Given the description of an element on the screen output the (x, y) to click on. 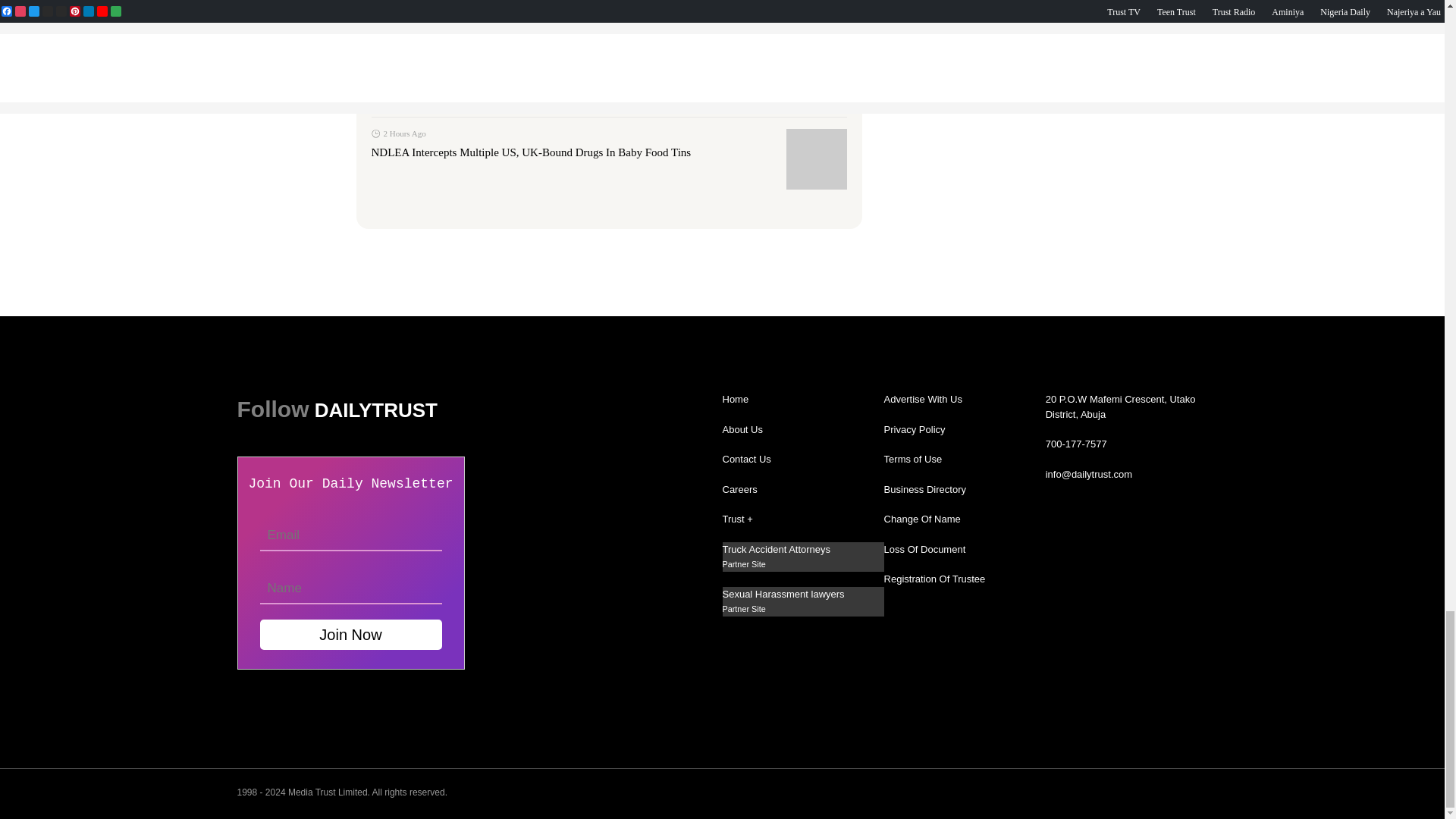
Join Now (350, 634)
